Given the description of an element on the screen output the (x, y) to click on. 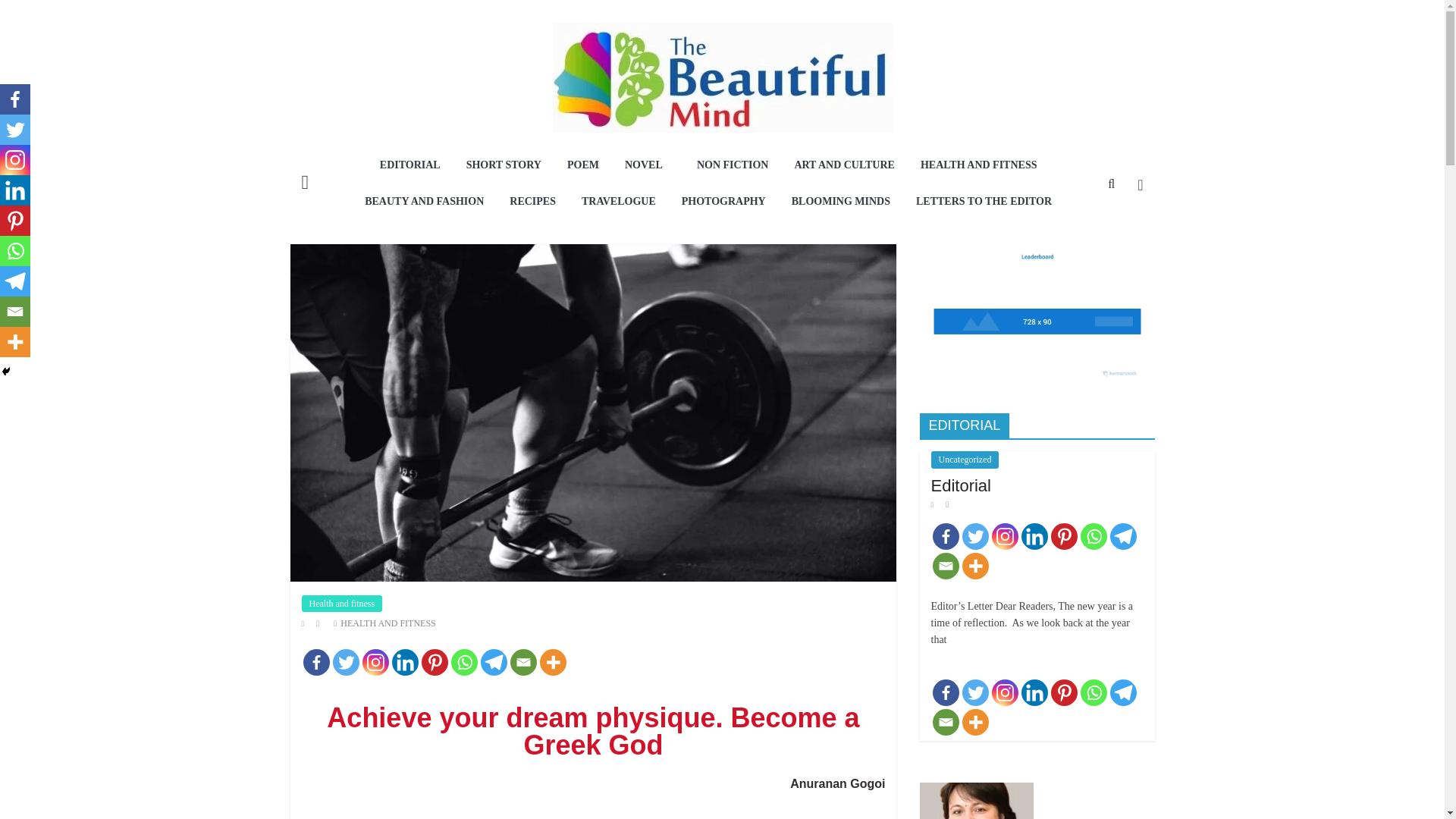
ART AND CULTURE (844, 166)
RECIPES (532, 202)
BEAUTY AND FASHION (424, 202)
TRAVELOGUE (618, 202)
Facebook (316, 662)
NOVEL (647, 166)
EDITORIAL (410, 166)
HEALTH AND FITNESS (978, 166)
Pinterest (435, 662)
Health and fitness (341, 603)
Email (522, 662)
More (553, 662)
Instagram (375, 662)
Whatsapp (463, 662)
Linkedin (404, 662)
